Given the description of an element on the screen output the (x, y) to click on. 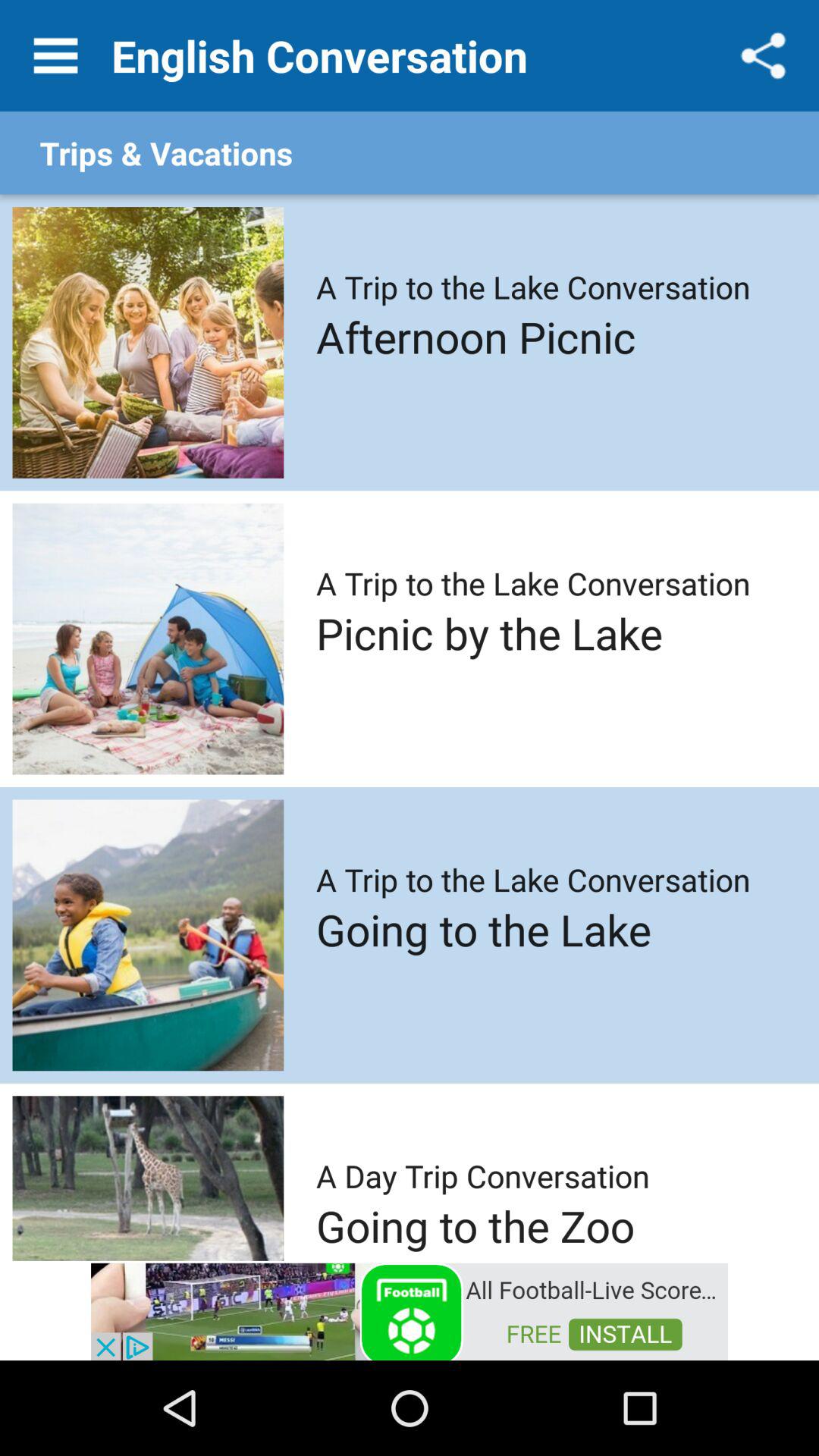
visit sponsored advertisement (409, 1310)
